Given the description of an element on the screen output the (x, y) to click on. 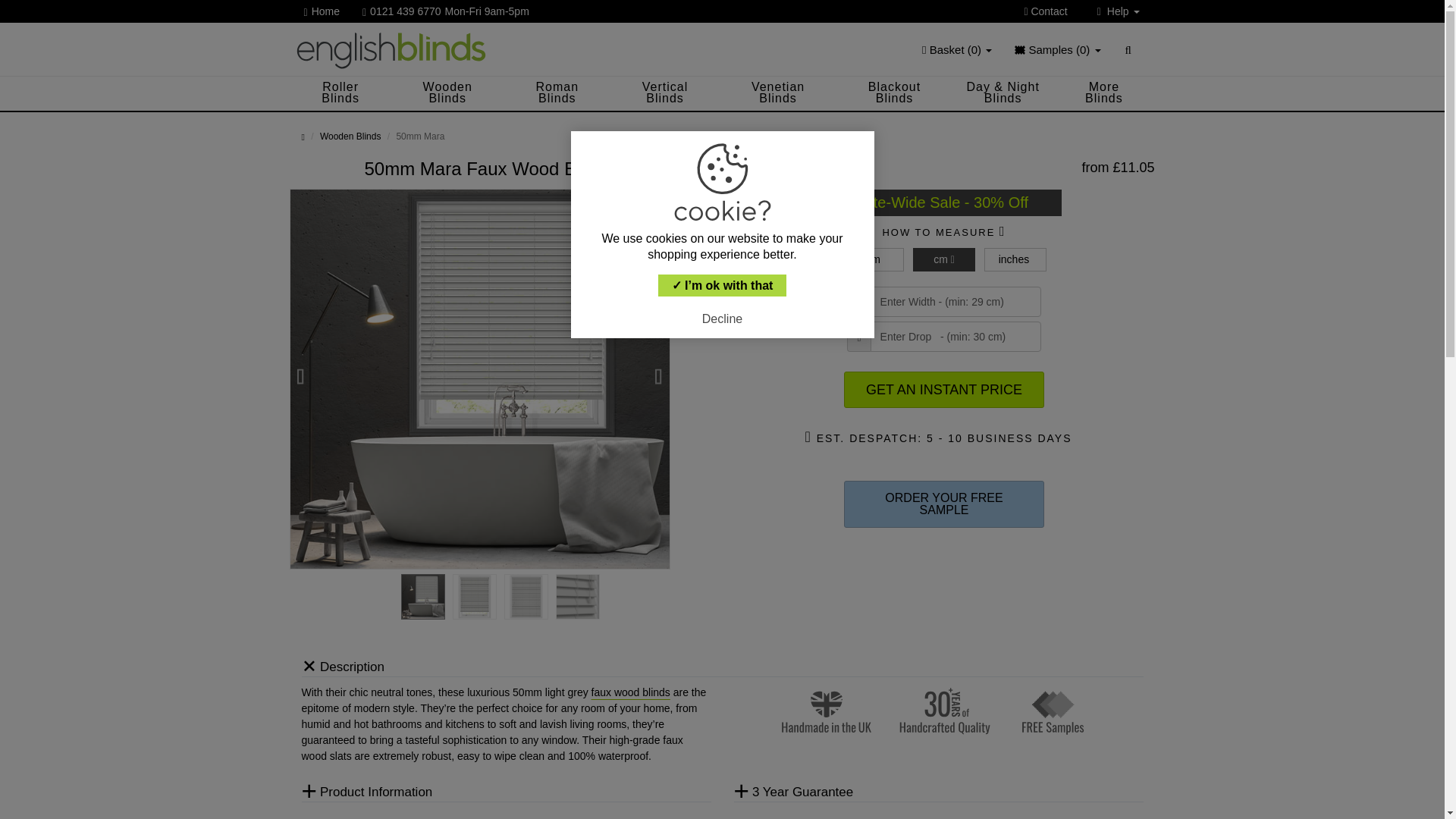
English Blinds (390, 49)
3 Year Guarantee (1079, 35)
Roller Blinds (339, 93)
Contact (1050, 11)
Help (1118, 11)
Order Tracking (1079, 36)
Home (327, 11)
